Given the description of an element on the screen output the (x, y) to click on. 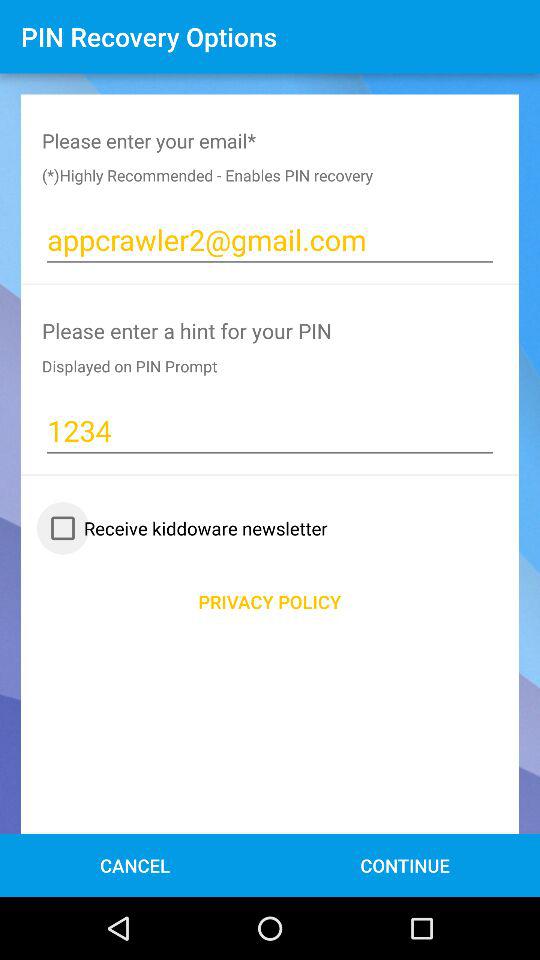
press icon below receive kiddoware newsletter (269, 601)
